Given the description of an element on the screen output the (x, y) to click on. 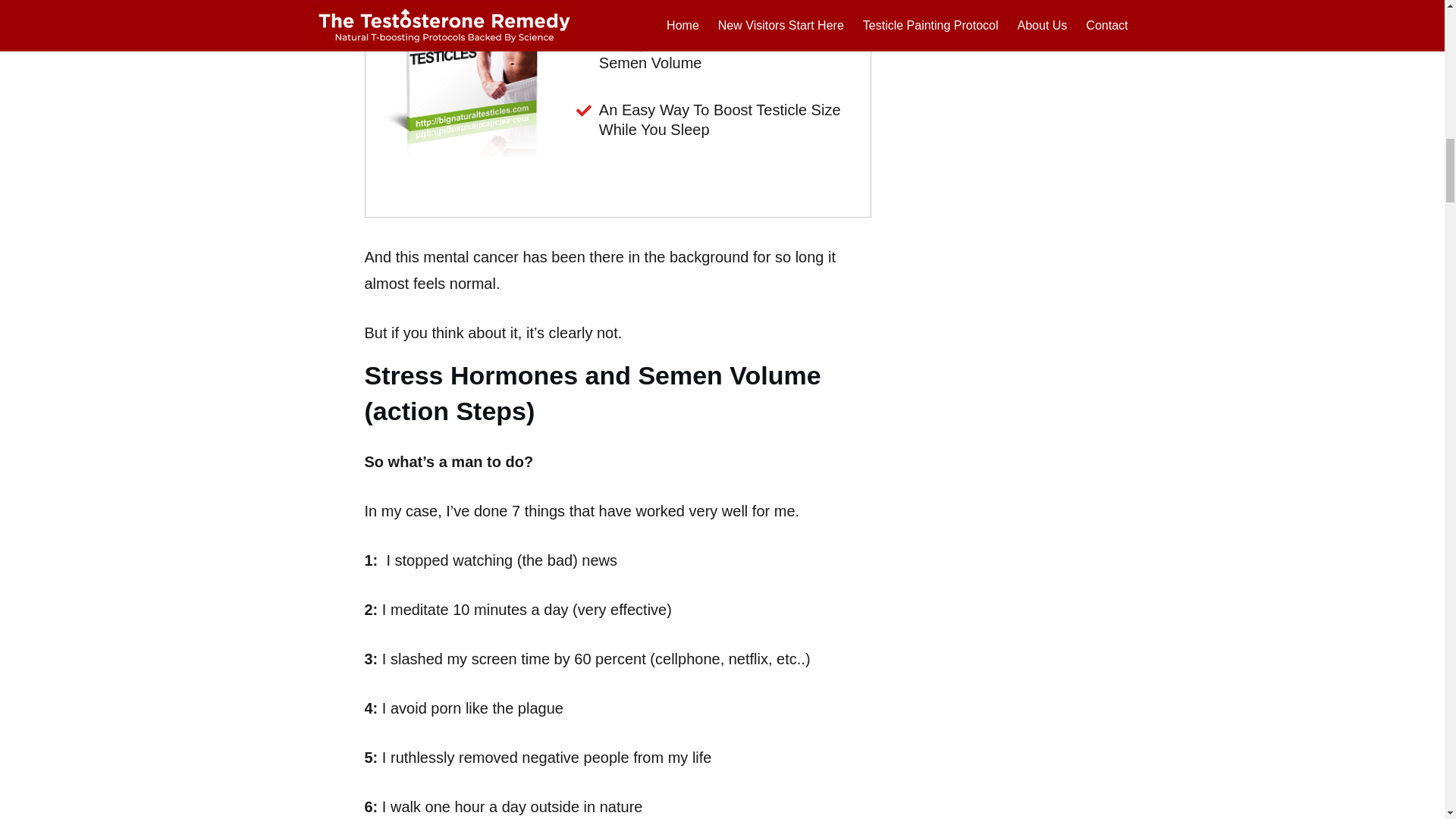
ebook-small (468, 79)
